Given the description of an element on the screen output the (x, y) to click on. 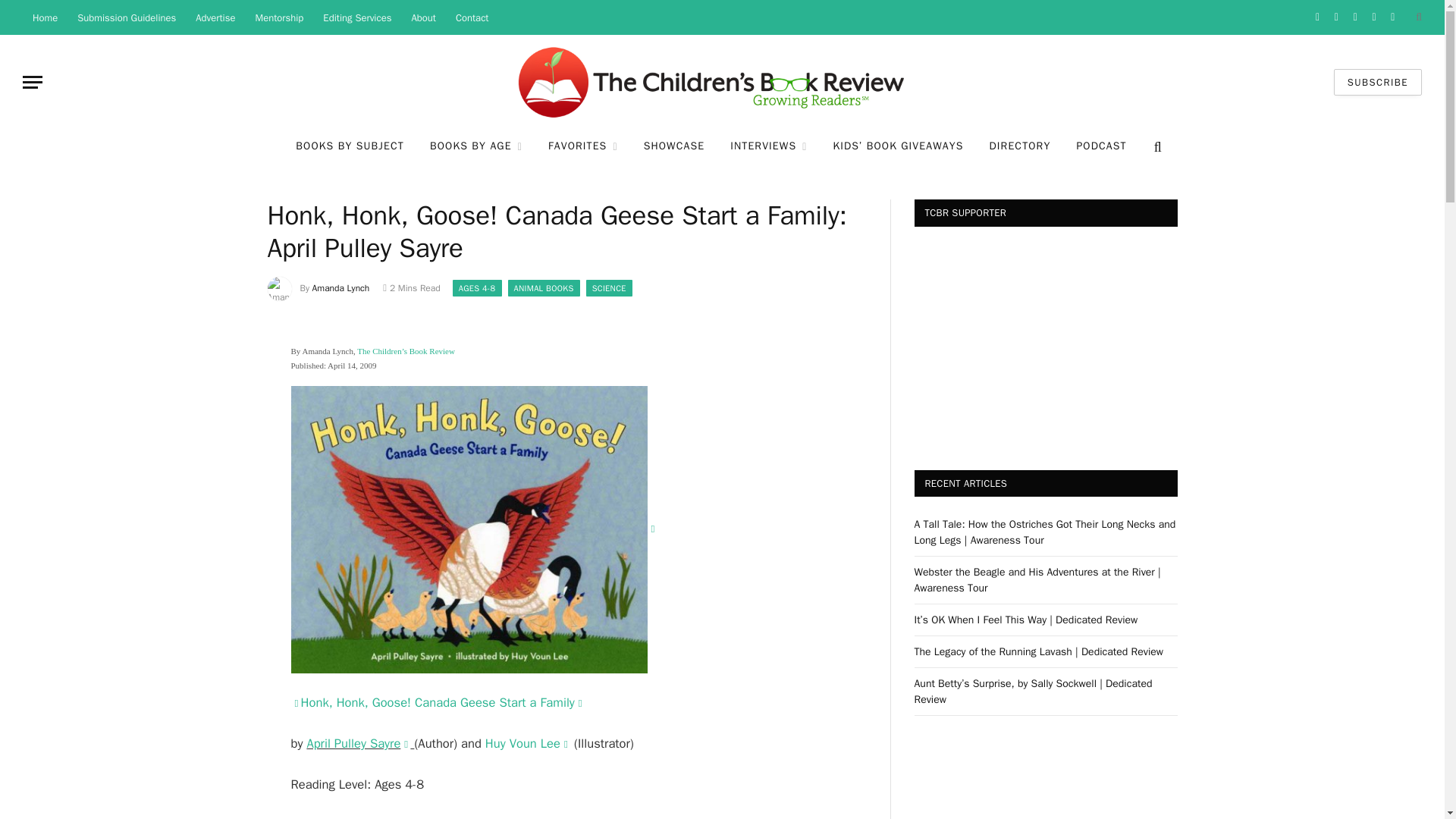
Search (1156, 146)
Contact (472, 17)
Submission Guidelines (126, 17)
About (423, 17)
FAVORITES (582, 146)
Search (1417, 17)
Facebook (1317, 17)
Pinterest (1374, 17)
BOOKS BY AGE (475, 146)
BOOKS BY SUBJECT (349, 146)
SUBSCRIBE (1377, 81)
Editing Services (357, 17)
The Children's Book Review (722, 82)
Mentorship (280, 17)
Posts by Amanda Lynch (341, 287)
